Given the description of an element on the screen output the (x, y) to click on. 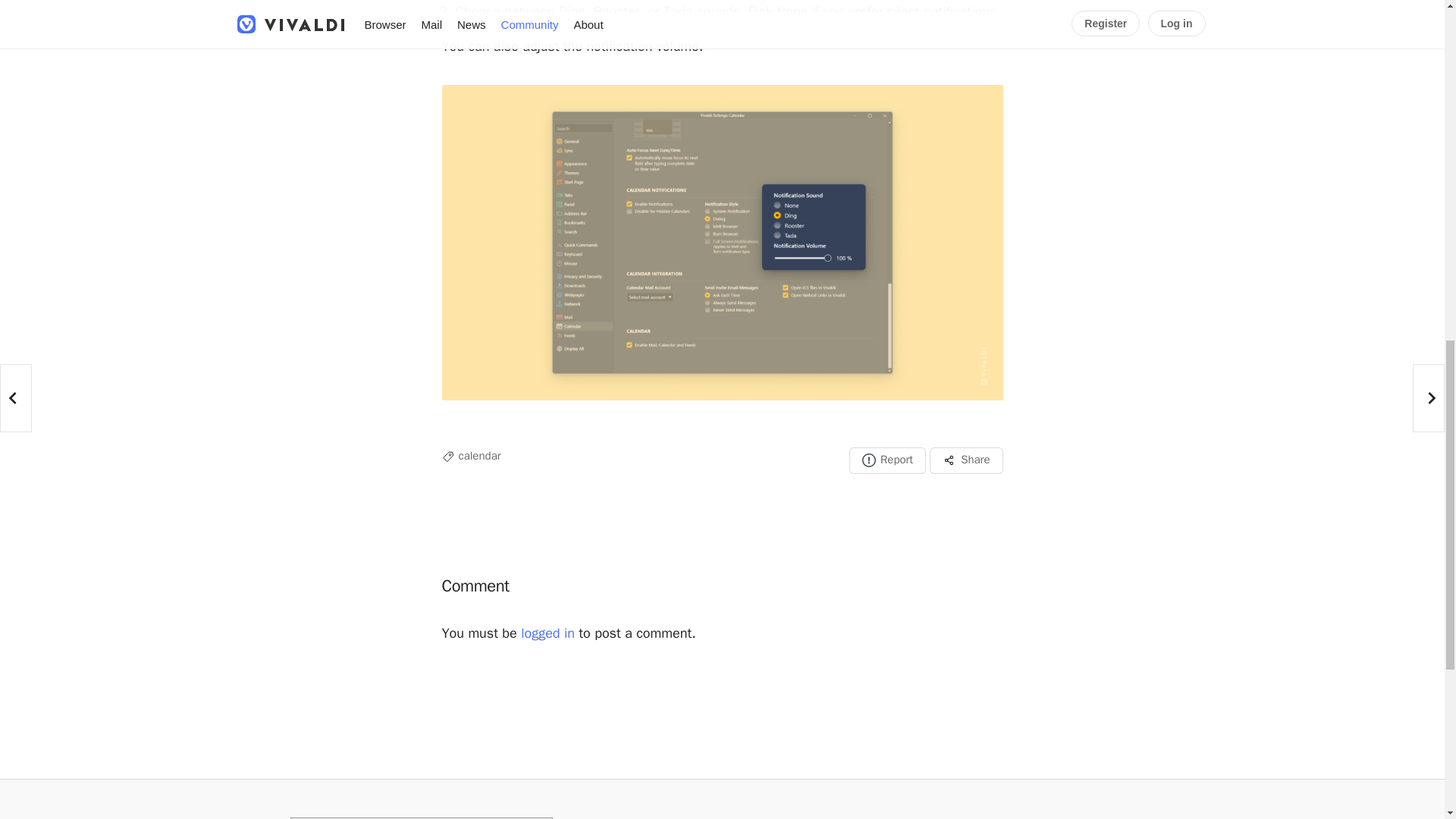
calendar (479, 455)
Report (887, 460)
Share (966, 460)
